Given the description of an element on the screen output the (x, y) to click on. 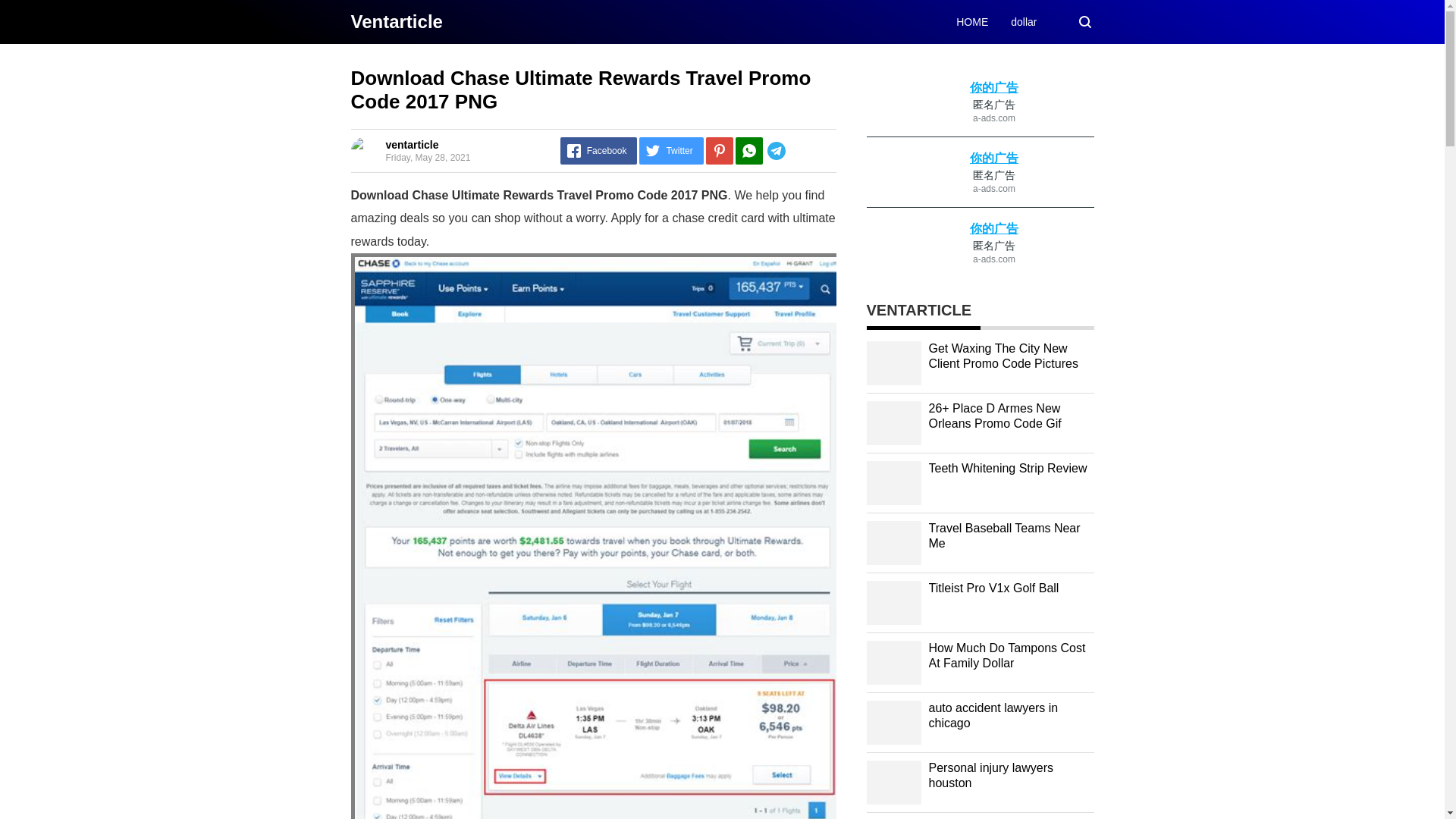
Share on Pinterest (719, 150)
HOME (972, 21)
Travel Baseball Teams Near Me (1004, 535)
Telegram (798, 150)
Share to Telegram (798, 150)
Teeth Whitening Strip Review (1007, 468)
ventarticle (396, 21)
dollar (1023, 21)
Get Waxing The City New Client Promo Code Pictures (1002, 356)
Ventarticle (396, 21)
How Much Do Tampons Cost At Family Dollar (1006, 655)
ventarticle (411, 144)
auto accident lawyers in chicago (993, 715)
author profile (411, 144)
Twitter (671, 150)
